Given the description of an element on the screen output the (x, y) to click on. 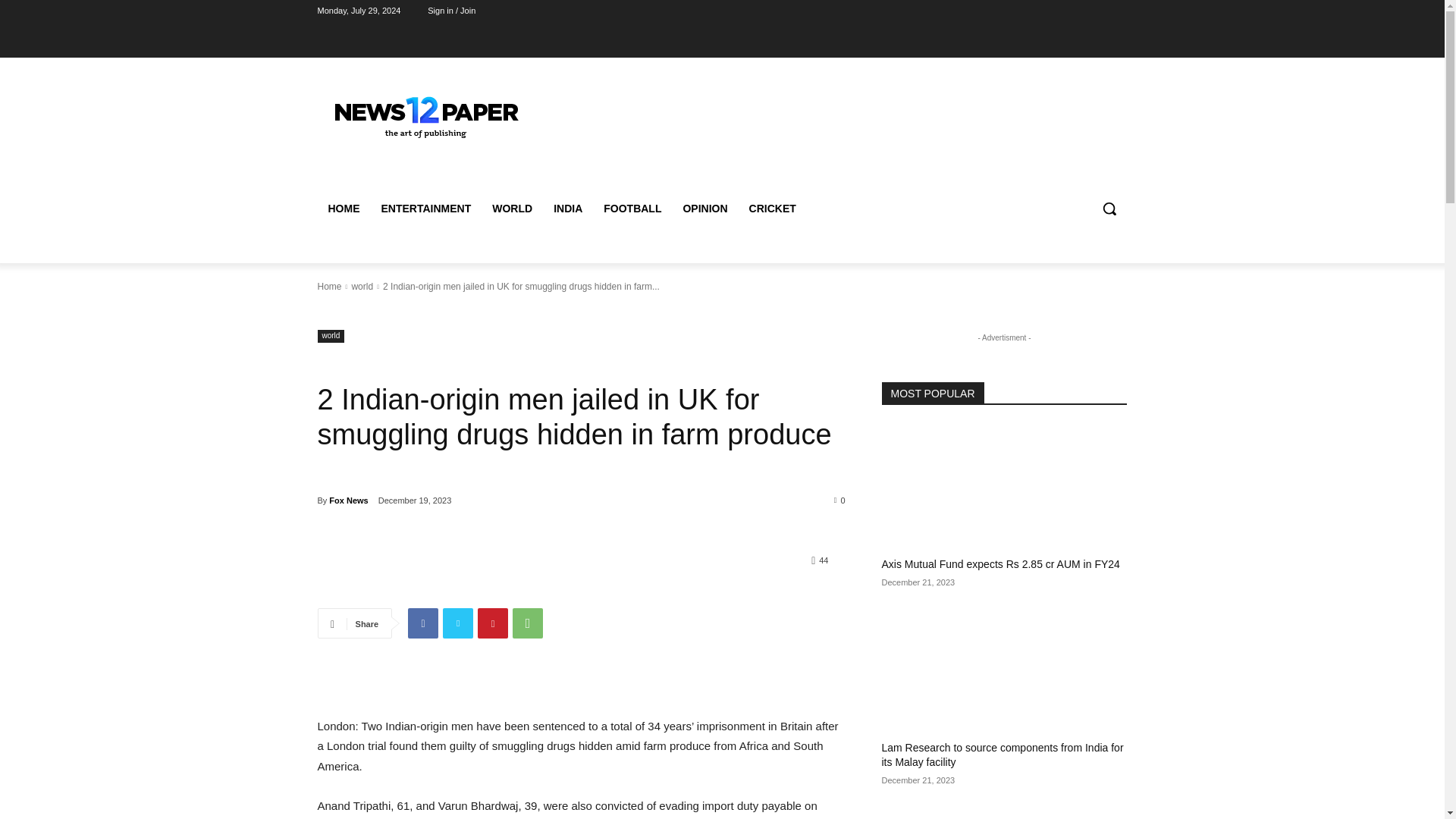
Fox News (348, 499)
WORLD (512, 208)
CRICKET (772, 208)
INDIA (567, 208)
Pinterest (492, 623)
FOOTBALL (631, 208)
Facebook (422, 623)
Twitter (457, 623)
0 (839, 499)
View all posts in world (361, 286)
world (361, 286)
ENTERTAINMENT (425, 208)
Home (328, 286)
HOME (343, 208)
WhatsApp (527, 623)
